Given the description of an element on the screen output the (x, y) to click on. 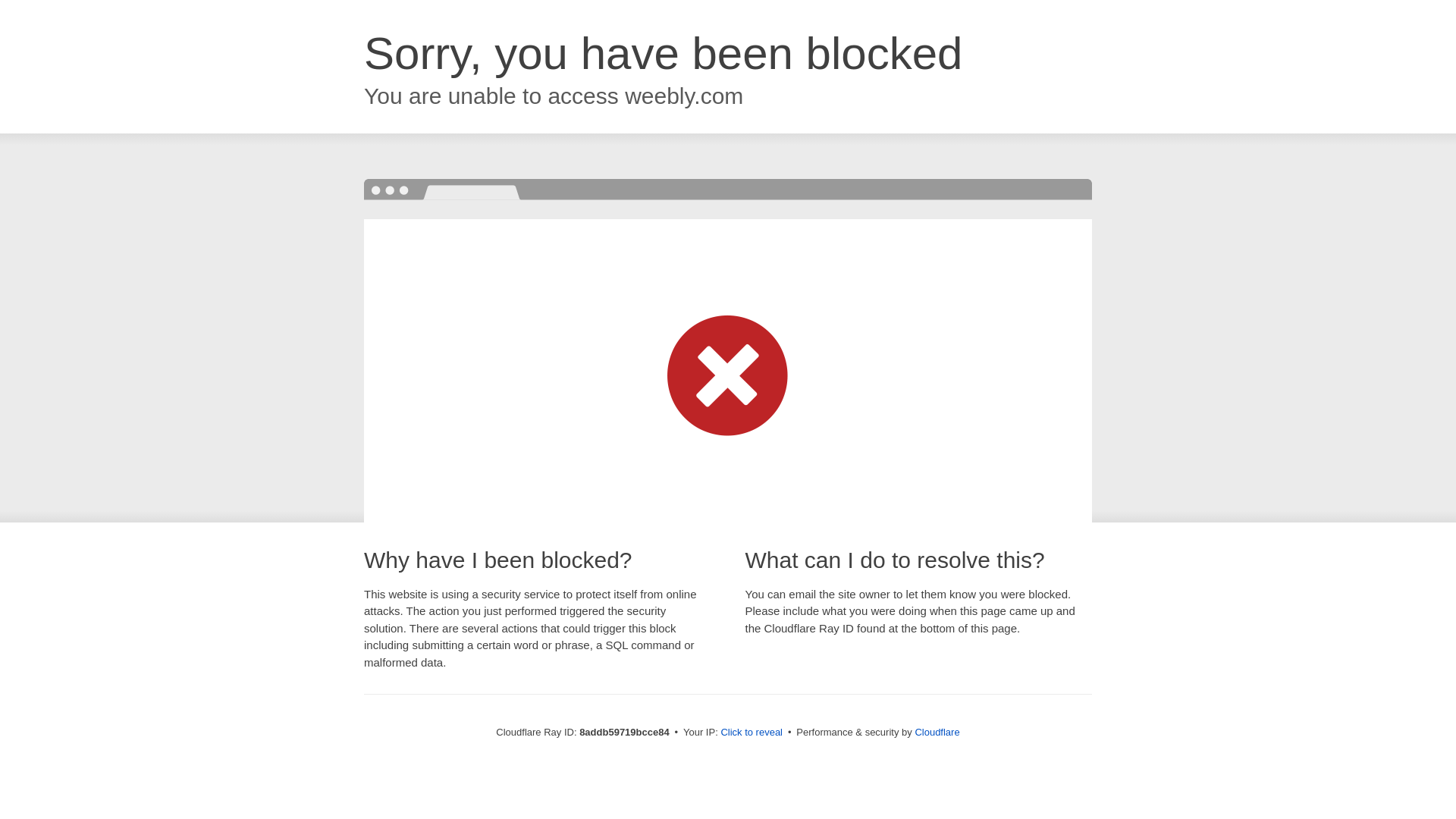
Cloudflare (936, 731)
Click to reveal (751, 732)
